Given the description of an element on the screen output the (x, y) to click on. 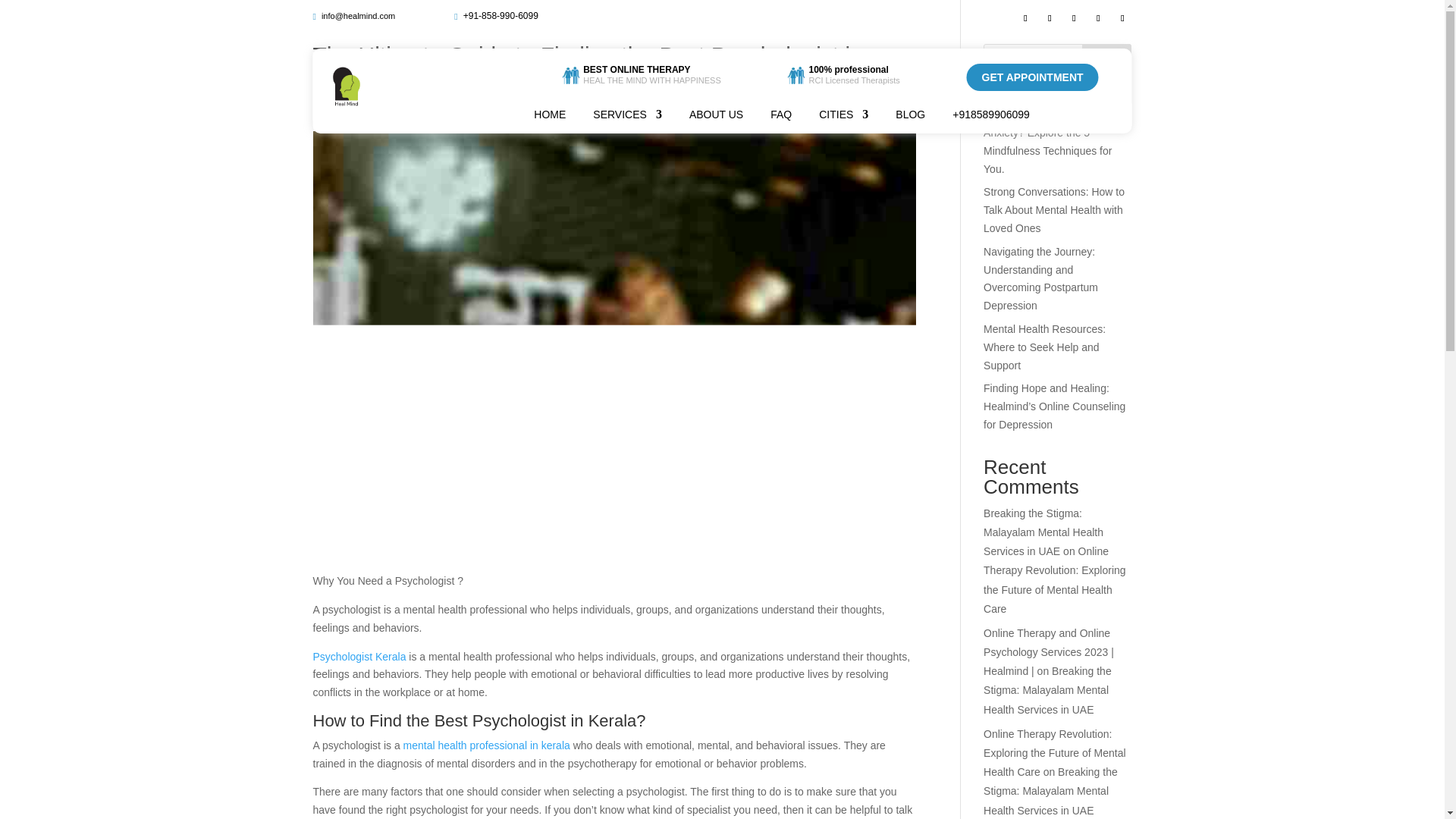
Follow on X (1049, 18)
CITIES (842, 117)
HOME (550, 117)
GET APPOINTMENT (1032, 76)
Search (1106, 59)
Psychologist Kerala (359, 656)
BLOG (909, 117)
mental health professional in kerala (488, 745)
Online Counselling (473, 105)
admin (340, 105)
ABOUT US (715, 117)
Anxiety? Explore the 5 Mindfulness Techniques for You. (1048, 150)
Follow on Facebook (1024, 18)
FAQ (781, 117)
LOGO HEALMIND ONLINE COUNSELLING (346, 85)
